Given the description of an element on the screen output the (x, y) to click on. 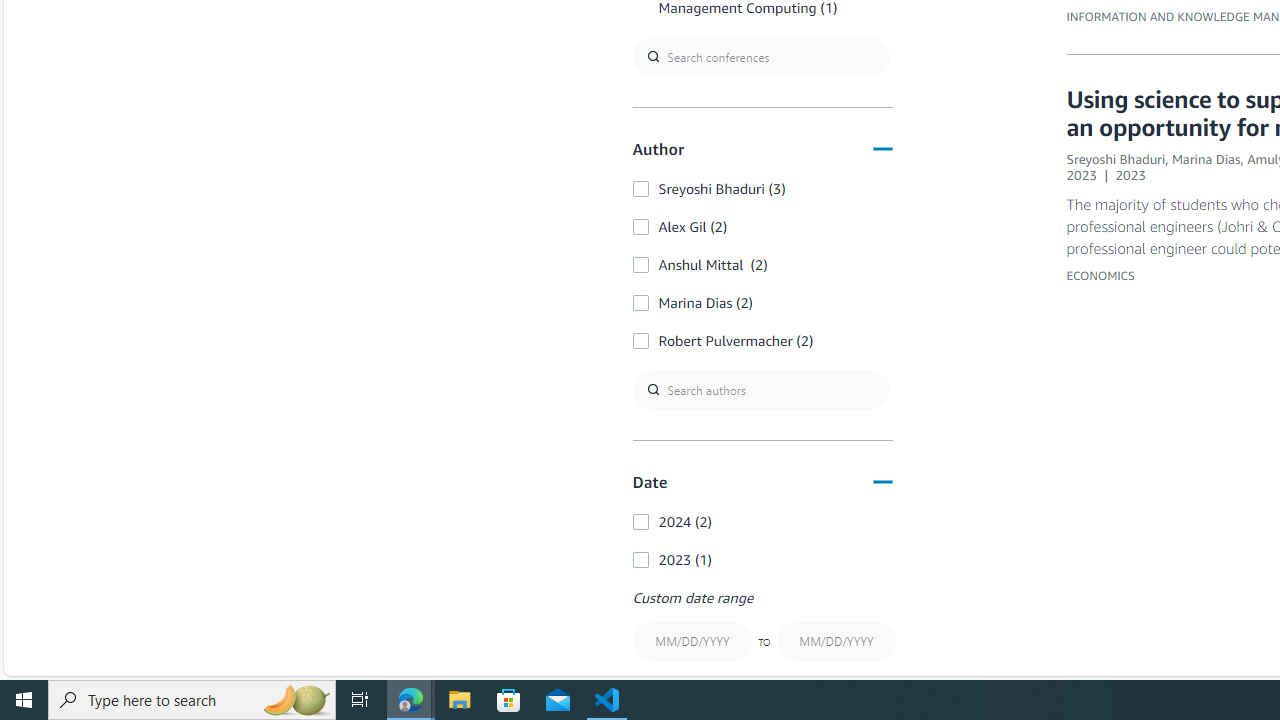
mm/dd/yyyy (836, 642)
Custom date rangeTO (762, 628)
